Given the description of an element on the screen output the (x, y) to click on. 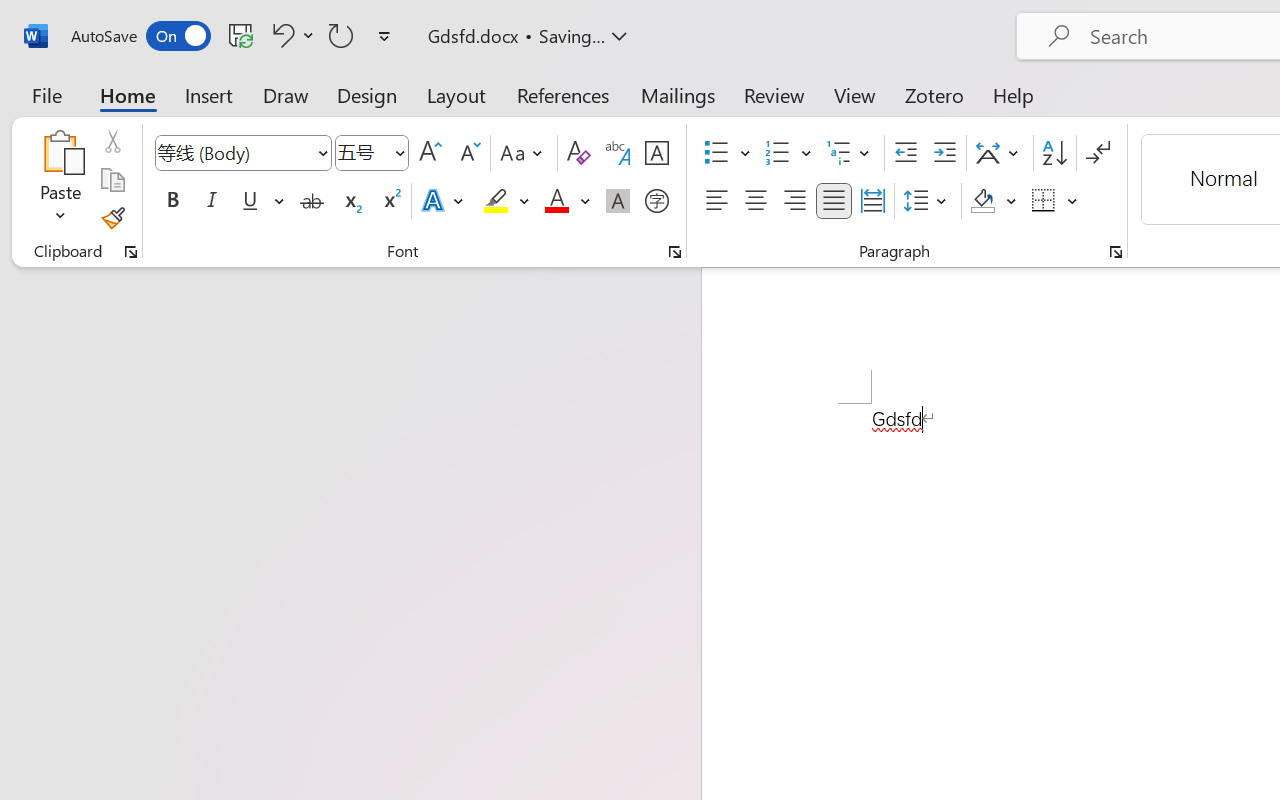
Font Color (567, 201)
Format Painter (112, 218)
Text Highlight Color (506, 201)
Cut (112, 141)
Undo Style (280, 35)
Strikethrough (312, 201)
Text Highlight Color Yellow (495, 201)
